Given the description of an element on the screen output the (x, y) to click on. 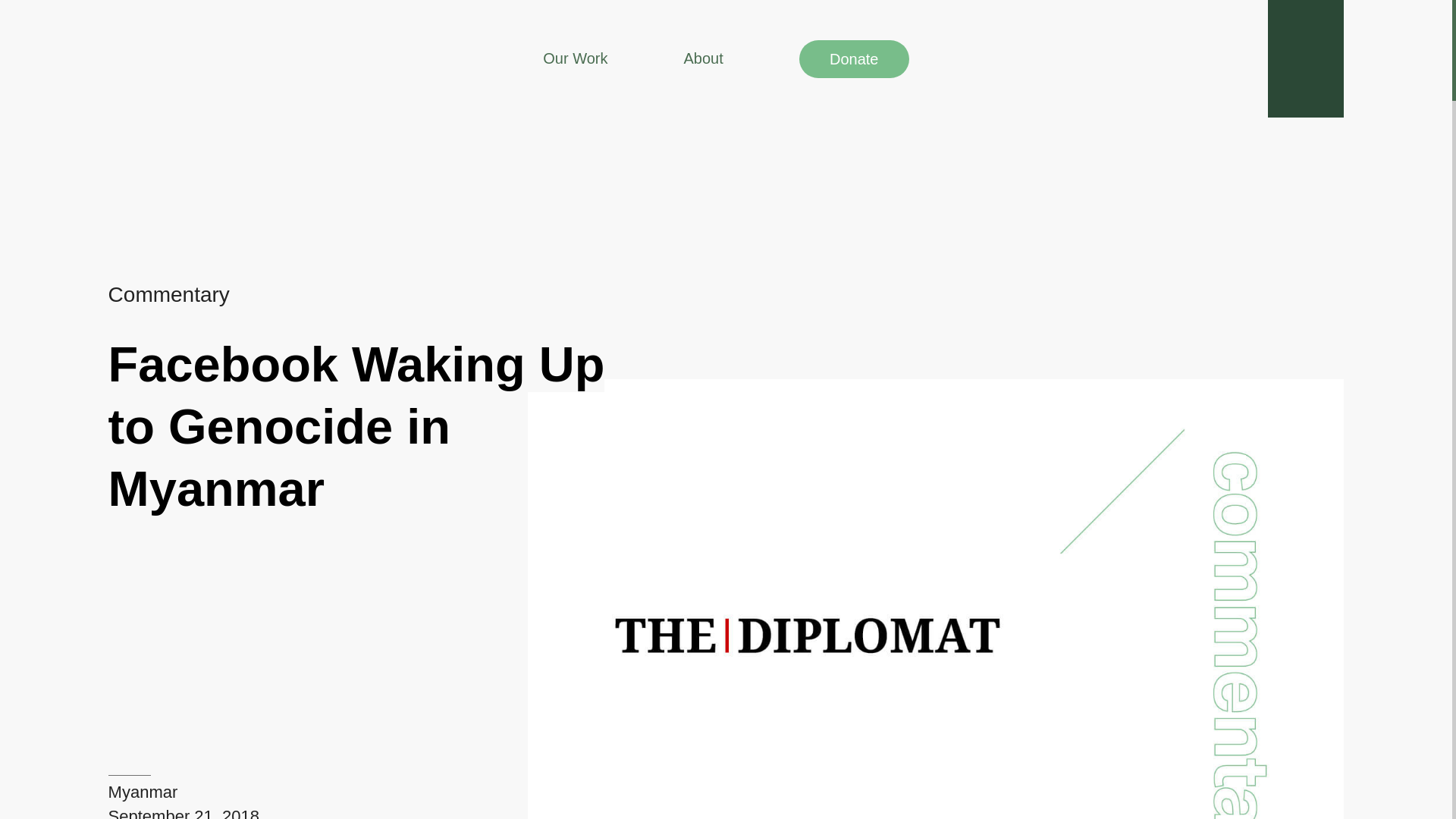
Our Work (575, 57)
About (702, 57)
Donate (853, 57)
